Given the description of an element on the screen output the (x, y) to click on. 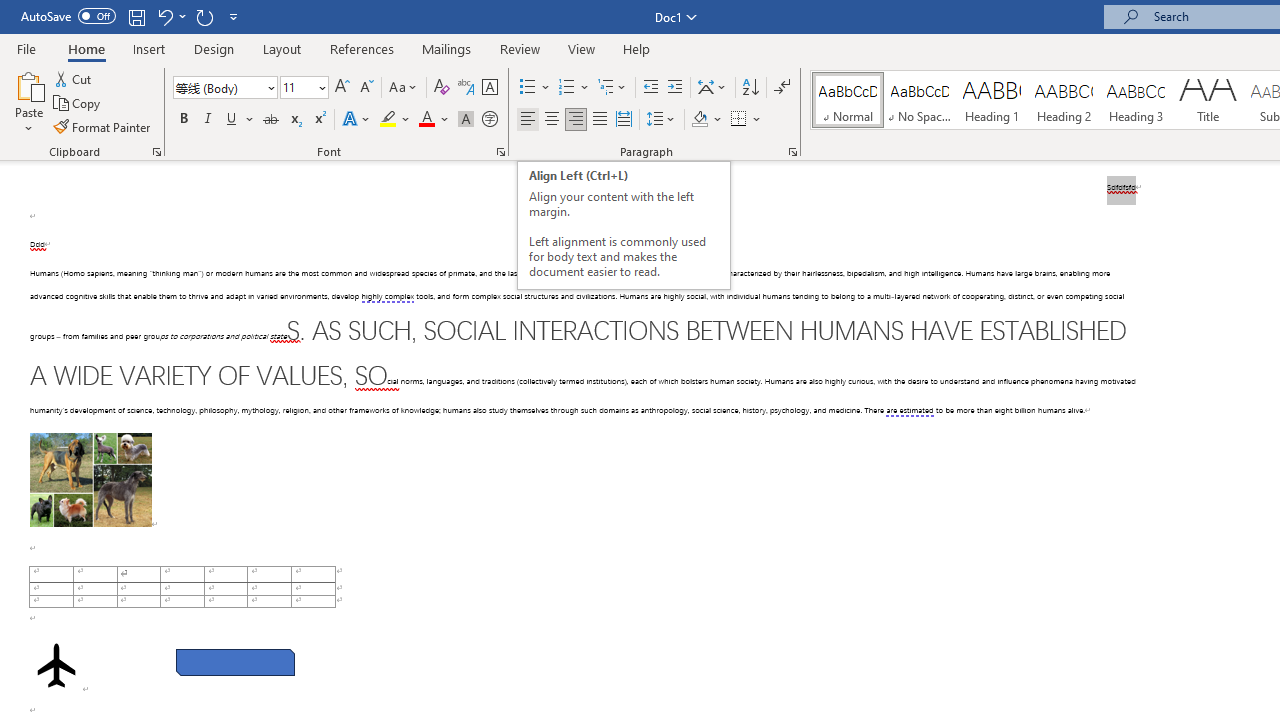
Airplane with solid fill (56, 665)
